Given the description of an element on the screen output the (x, y) to click on. 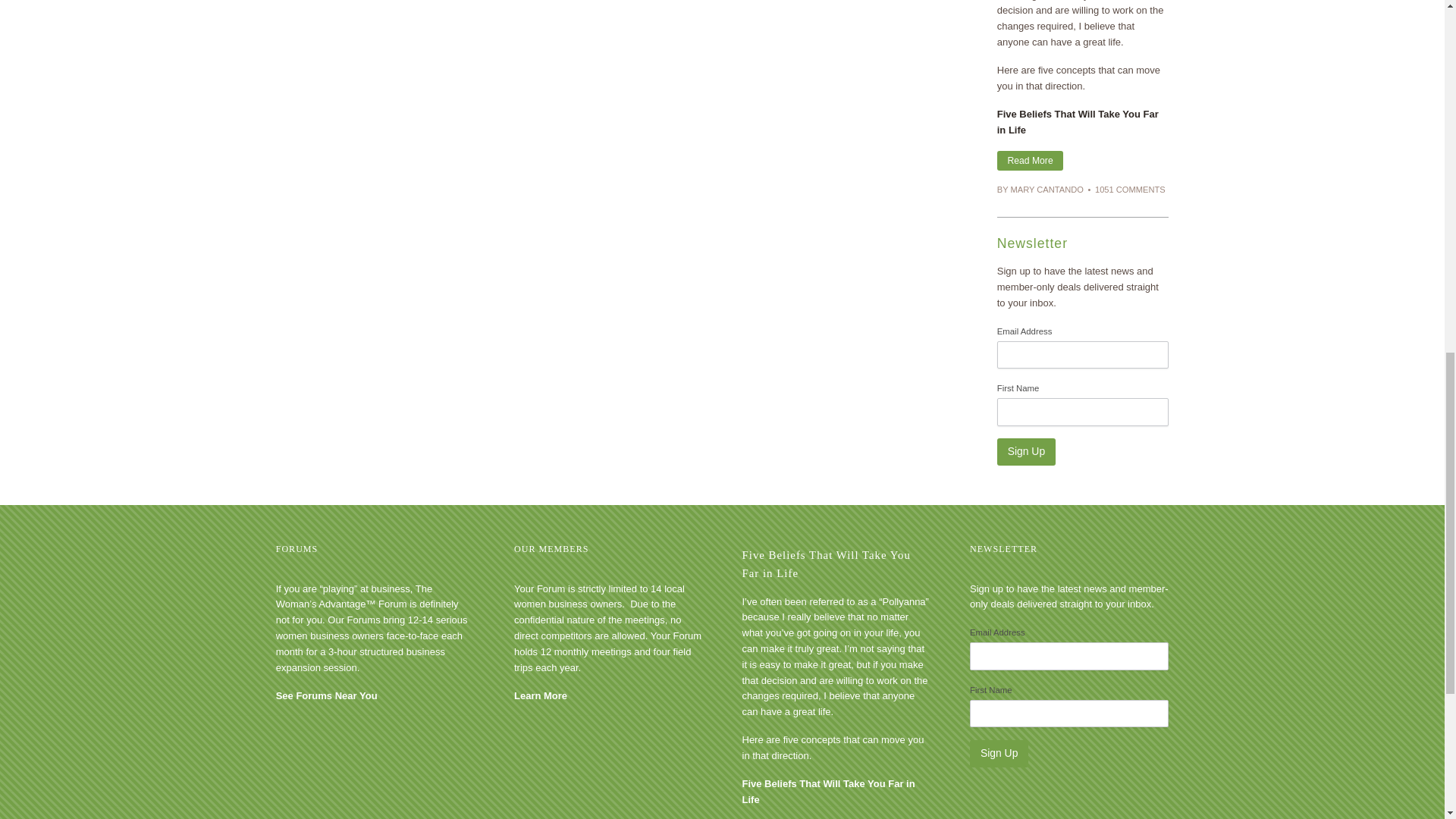
1051 COMMENTS (1130, 189)
Read More (1030, 160)
Learn More (540, 695)
Sign Up (1026, 452)
See Forums Near You (326, 695)
